Given the description of an element on the screen output the (x, y) to click on. 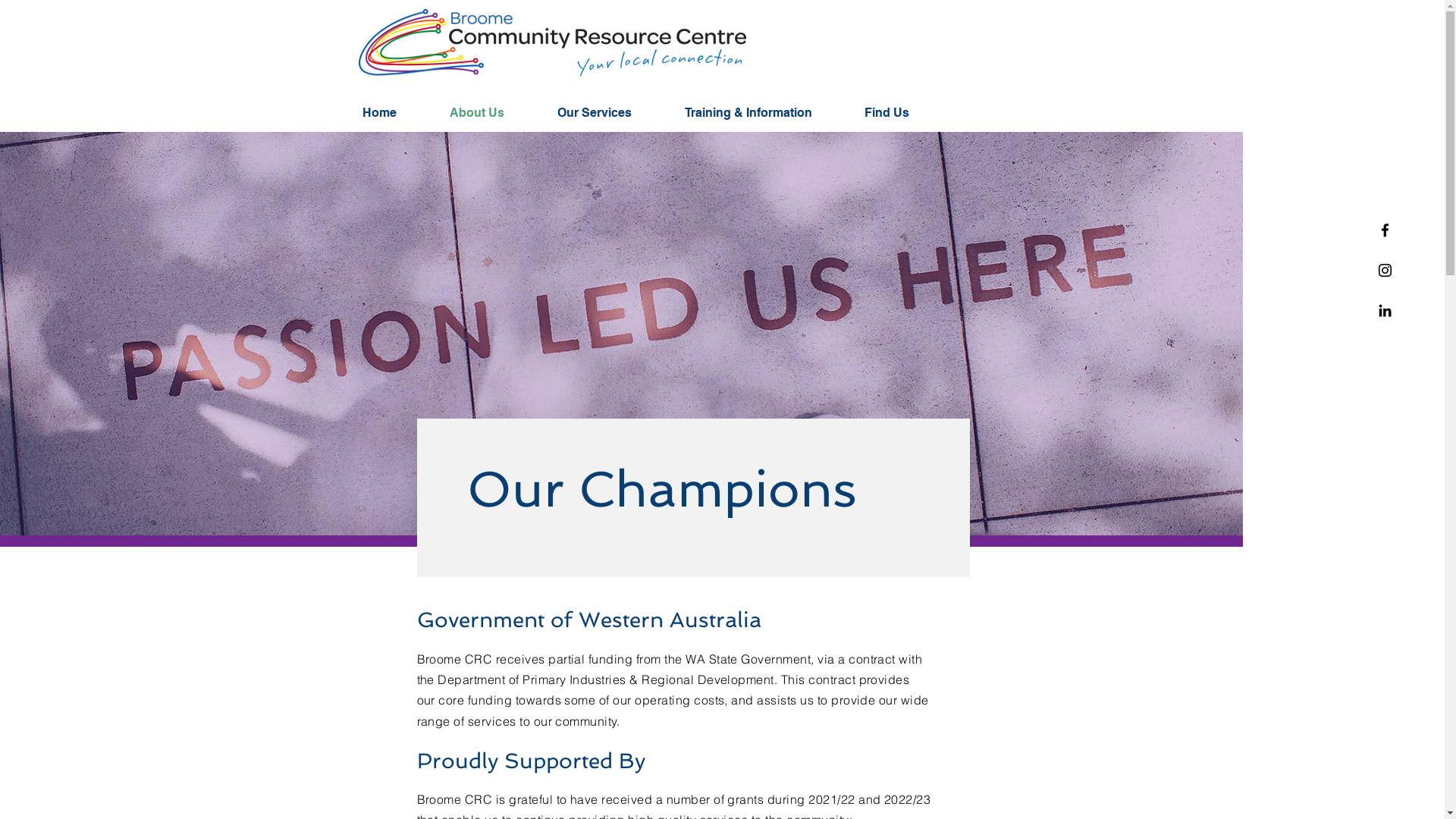
Home Element type: text (393, 112)
Our Services Element type: text (609, 112)
Find Us Element type: text (900, 112)
About Us Element type: text (492, 112)
Training & Information Element type: text (763, 112)
